Given the description of an element on the screen output the (x, y) to click on. 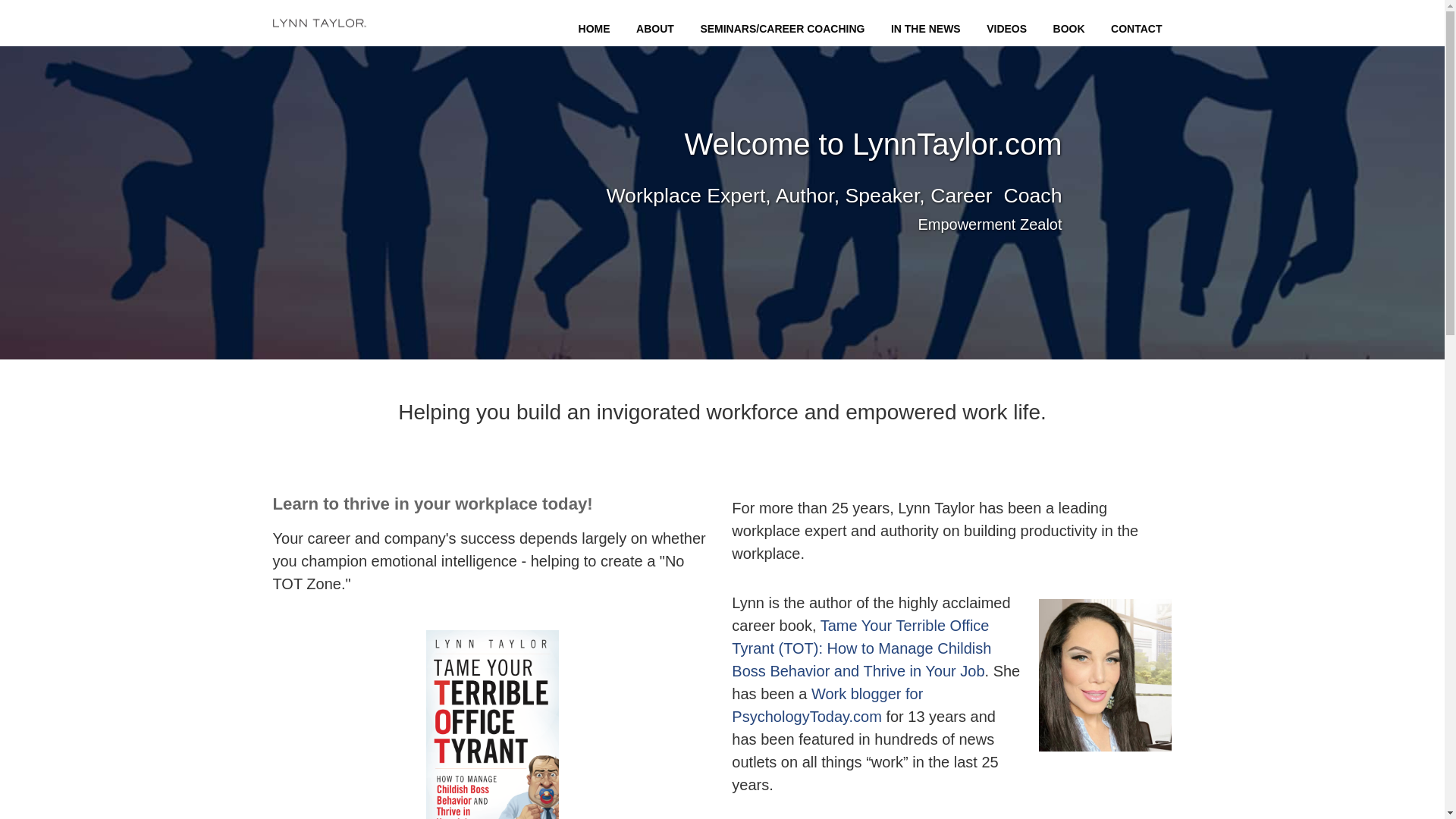
ABOUT (655, 28)
IN THE NEWS (925, 28)
HOME (594, 28)
VIDEOS (1006, 28)
Work blogger for PsychologyToday.com (827, 704)
BOOK (1068, 28)
CONTACT (1135, 28)
